Given the description of an element on the screen output the (x, y) to click on. 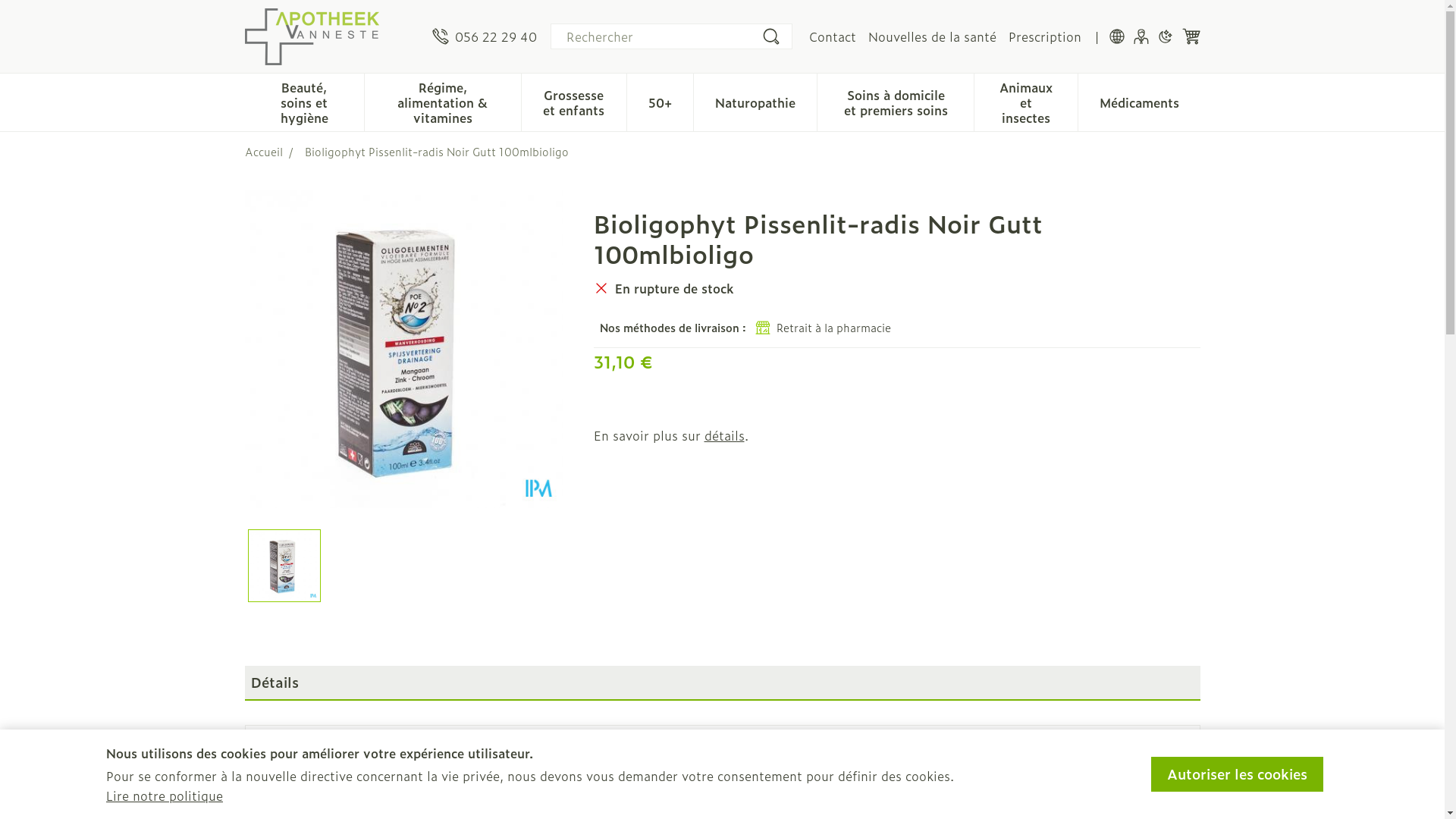
Langues Element type: text (1115, 35)
Lire notre politique Element type: text (164, 795)
Mode sombre Element type: text (1164, 35)
Bioligophyt Pissenlit-radis Noir Gutt 100mlbioligo Element type: hover (284, 565)
Accueil Element type: text (263, 151)
Apotheek Marke Element type: hover (331, 36)
Panier Element type: text (1190, 36)
50+ Element type: text (660, 100)
056 22 29 40 Element type: text (484, 36)
Prescription Element type: text (1044, 36)
Apotheek Marke Element type: hover (311, 35)
Animaux et insectes Element type: text (1025, 100)
Grossesse et enfants Element type: text (574, 100)
Naturopathie Element type: text (754, 100)
Menu client Element type: text (1140, 35)
Bioligophyt Pissenlit-radis Noir Gutt 100mlbioligo Element type: hover (403, 348)
Contact Element type: text (831, 36)
Autoriser les cookies Element type: text (1237, 773)
Rechercher Element type: text (770, 36)
